Given the description of an element on the screen output the (x, y) to click on. 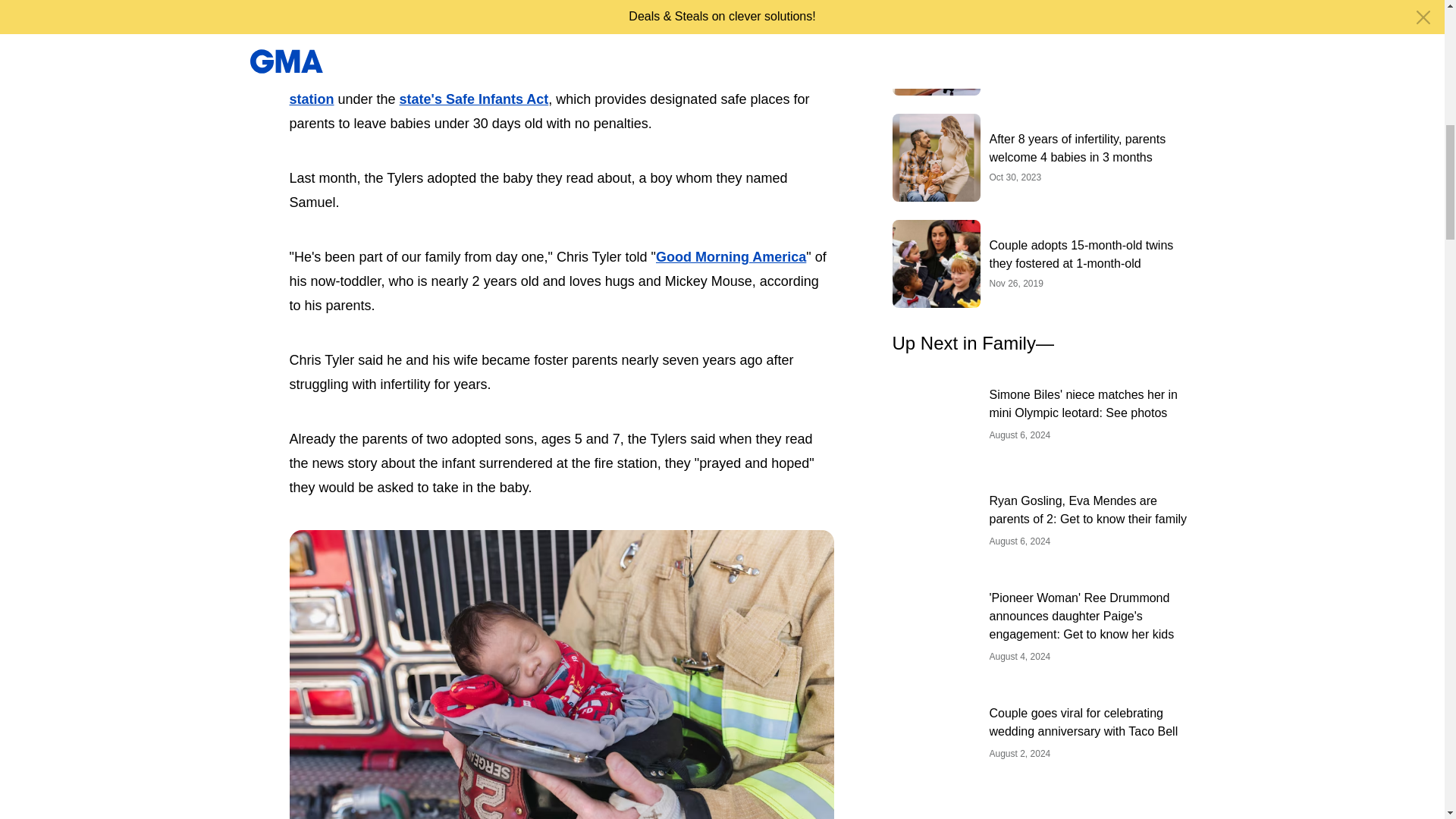
state's Safe Infants Act (473, 99)
surrendered at a local fire station (544, 87)
